Given the description of an element on the screen output the (x, y) to click on. 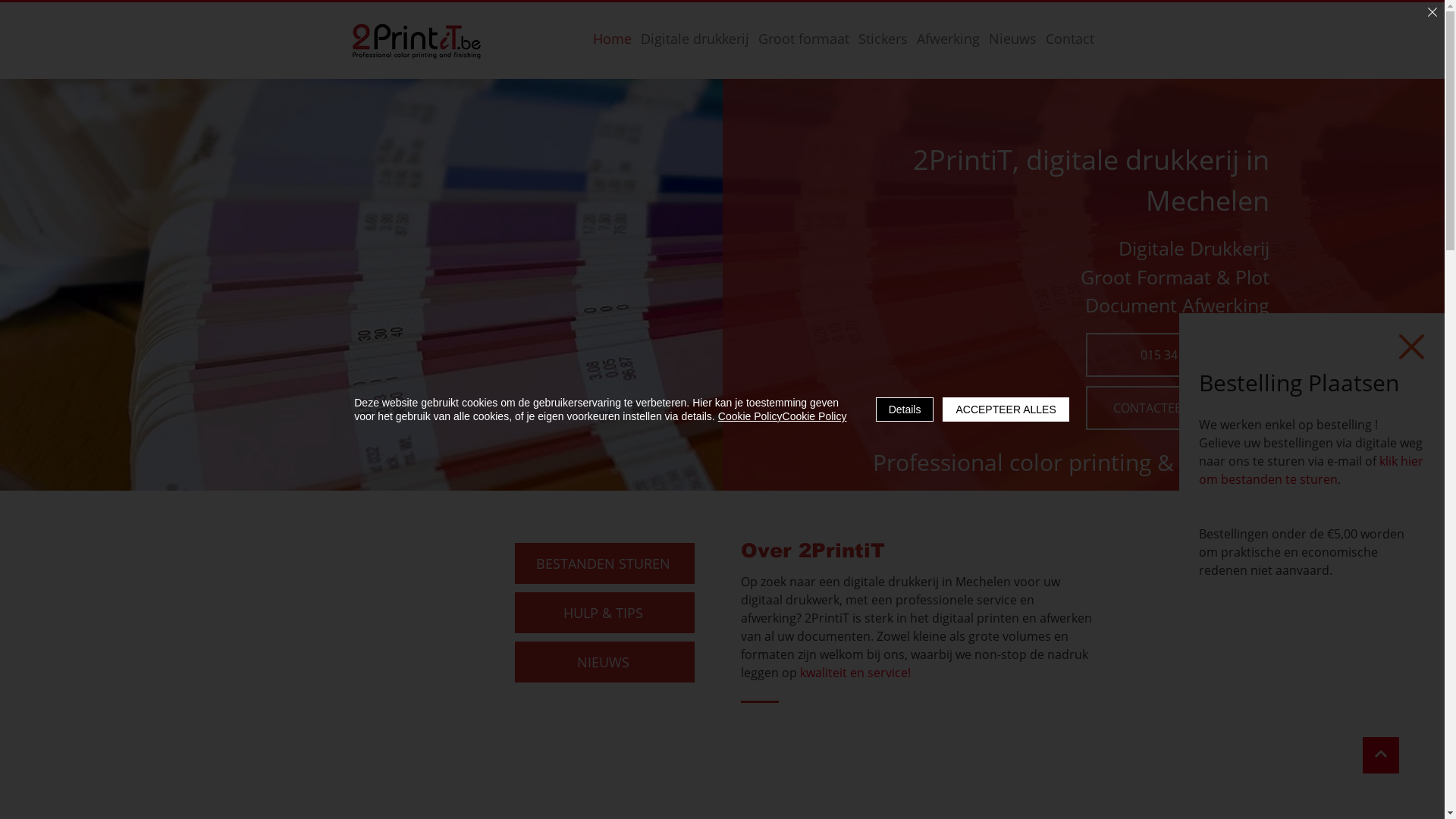
BESTANDEN STUREN Element type: text (603, 562)
Digitale drukkerij Element type: text (694, 38)
Groot formaat Element type: text (803, 38)
ACCEPTEER ALLES Element type: text (1005, 409)
NIEUWS Element type: text (603, 661)
HULP & TIPS Element type: text (603, 612)
015 34 04 09 Element type: text (1177, 354)
Afwerking Element type: text (947, 38)
Terug naar de website Element type: hover (1411, 322)
CONTACTEER ONS NU Element type: text (1177, 407)
service Element type: text (887, 672)
Cookie PolicyCookie Policy Element type: text (782, 416)
Contact Element type: text (1068, 38)
Home Element type: text (612, 38)
Stickers Element type: text (882, 38)
Details Element type: text (904, 409)
Nieuws Element type: text (1012, 38)
